Given the description of an element on the screen output the (x, y) to click on. 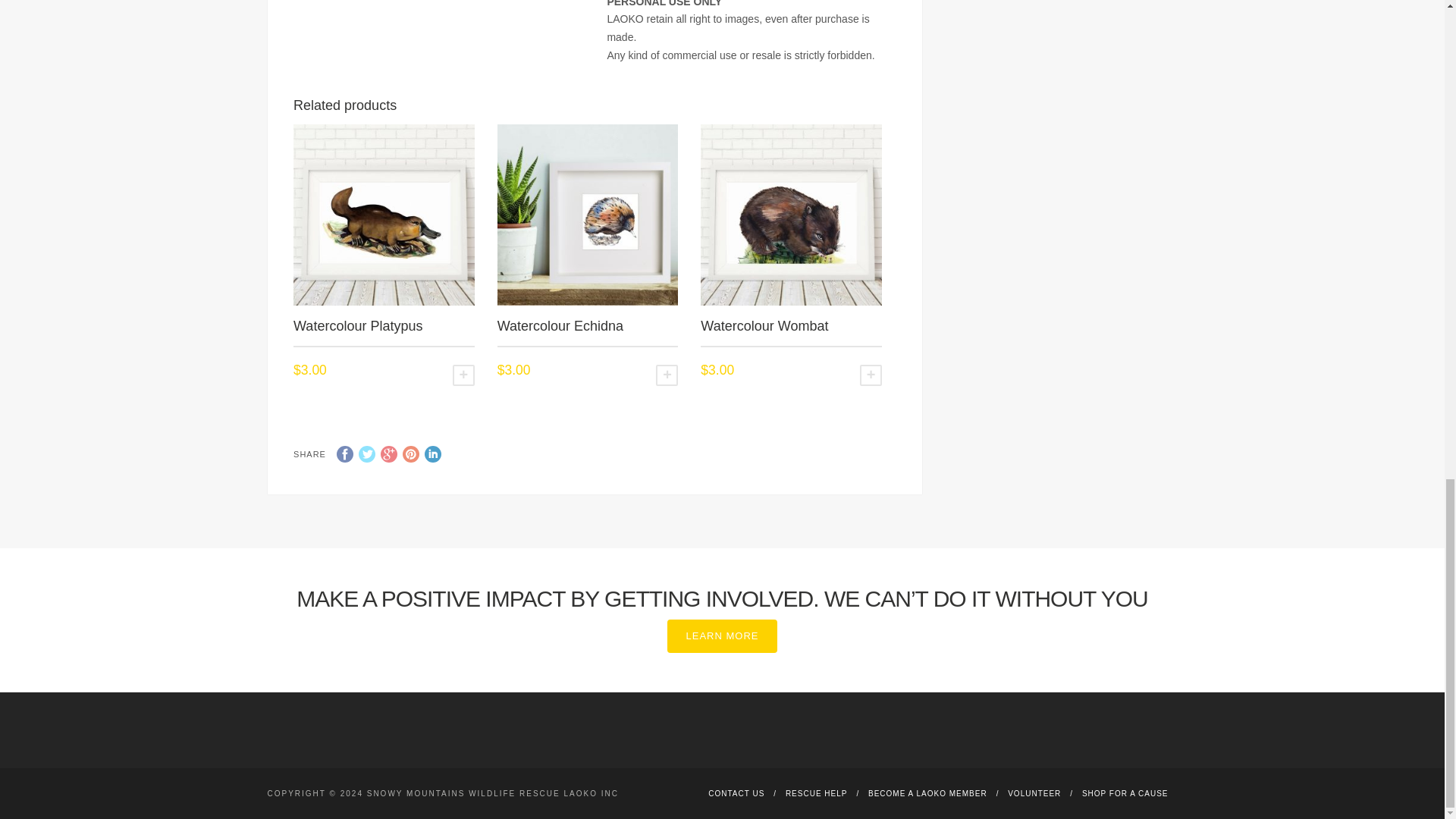
SHOP FOR A CAUSE (1125, 793)
LEARN MORE (721, 635)
ADD TO CART (667, 374)
Twitter (366, 453)
ADD TO CART (462, 374)
VOLUNTEER (1034, 793)
BECOME A LAOKO MEMBER (927, 793)
Facebook (344, 453)
Pinterest (411, 453)
RESCUE HELP (816, 793)
LinkedIn (433, 453)
CONTACT US (735, 793)
ADD TO CART (871, 374)
